Given the description of an element on the screen output the (x, y) to click on. 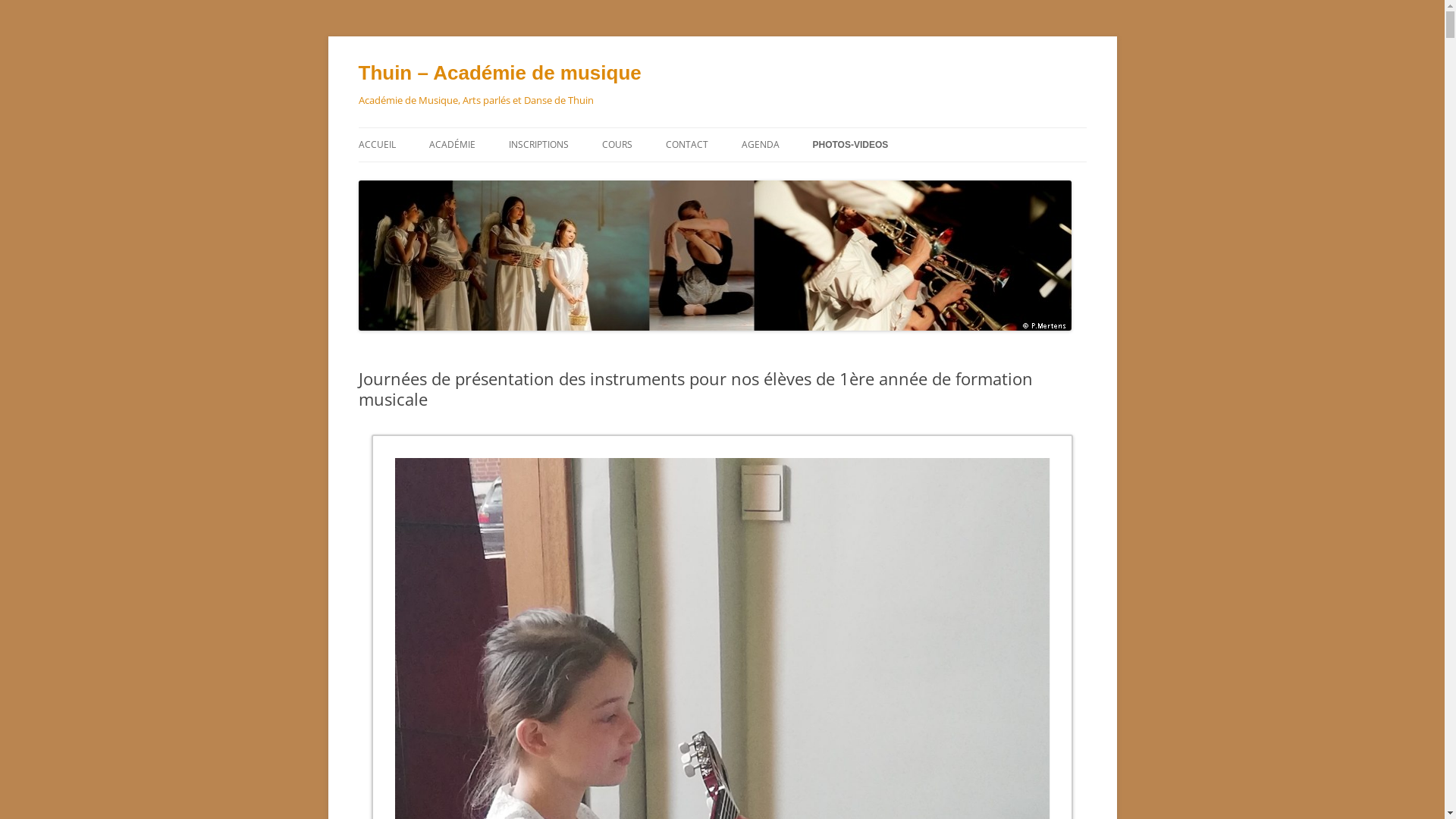
INSCRIPTIONS Element type: text (537, 144)
EVALUATIONS Element type: text (817, 176)
PHOTOS-VIDEOS Element type: text (850, 144)
HORAIRE DES COURS COLLECTIFS Element type: text (677, 176)
NOTRE PROJET Element type: text (504, 176)
CONTACT Element type: text (686, 144)
AGENDA Element type: text (760, 144)
ACCUEIL Element type: text (376, 144)
Aller au contenu Element type: text (721, 127)
COURS Element type: text (617, 144)
